Given the description of an element on the screen output the (x, y) to click on. 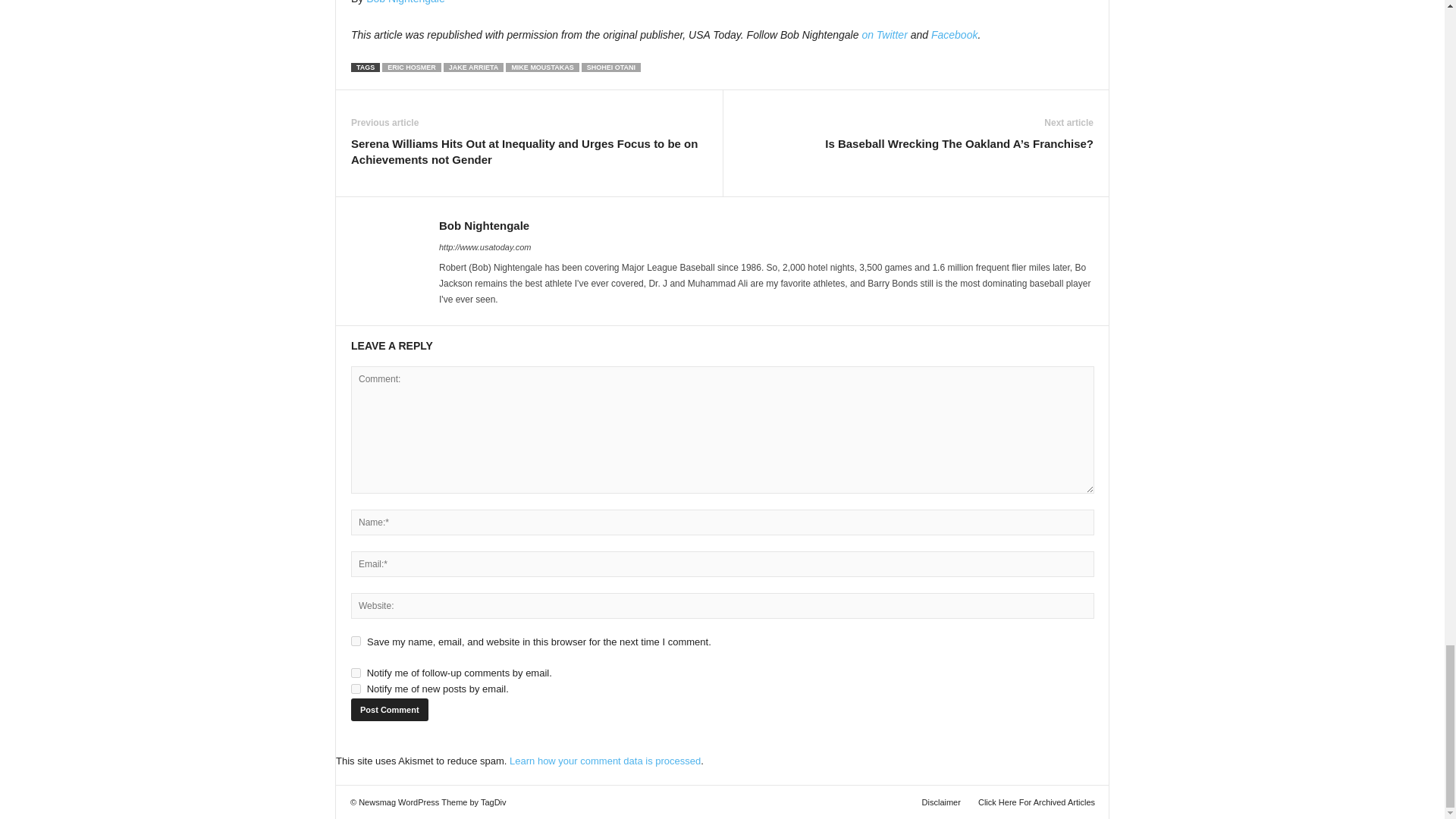
Post Comment (389, 709)
yes (355, 641)
subscribe (355, 688)
subscribe (355, 673)
